Given the description of an element on the screen output the (x, y) to click on. 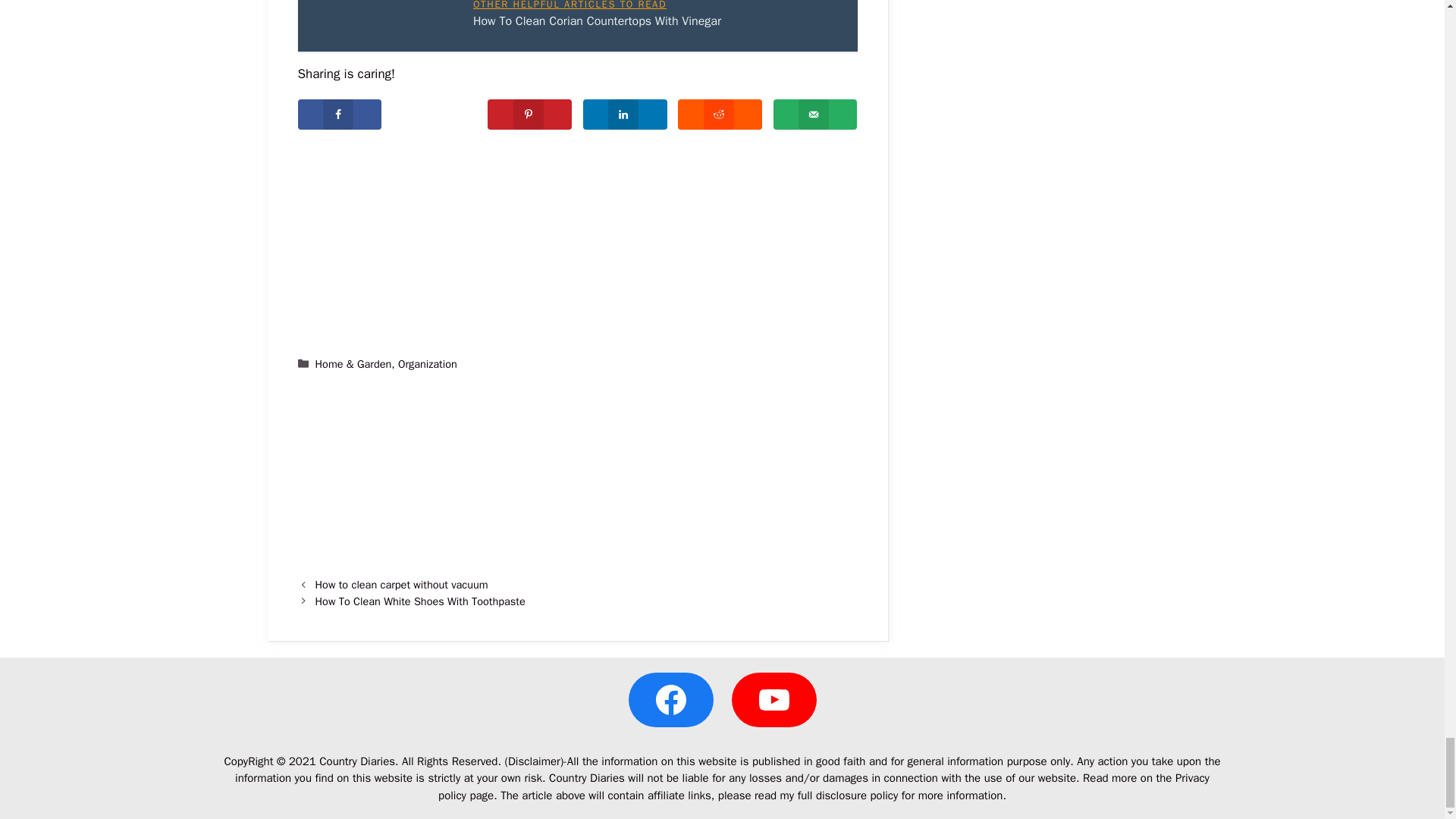
Share on X (435, 114)
Share on Facebook (339, 114)
Save to Pinterest (529, 114)
Share on LinkedIn (624, 114)
